Given the description of an element on the screen output the (x, y) to click on. 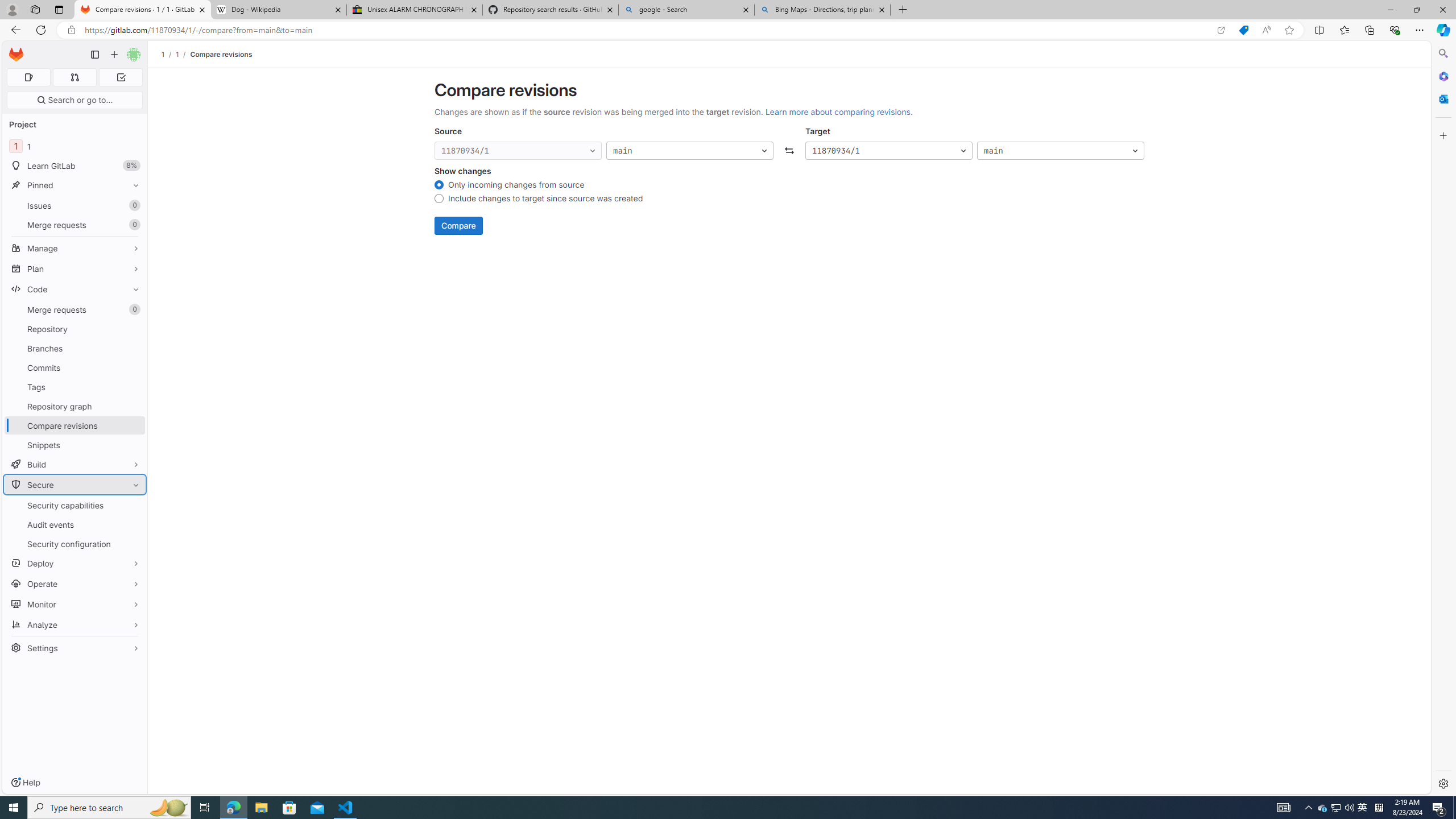
Security capabilities (74, 505)
Pin Audit events (132, 524)
Merge requests 0 (74, 309)
Deploy (74, 562)
Security configuration (74, 543)
Assigned issues 0 (28, 76)
Repository graph (74, 406)
Dog - Wikipedia (277, 9)
Merge requests0 (74, 309)
